Given the description of an element on the screen output the (x, y) to click on. 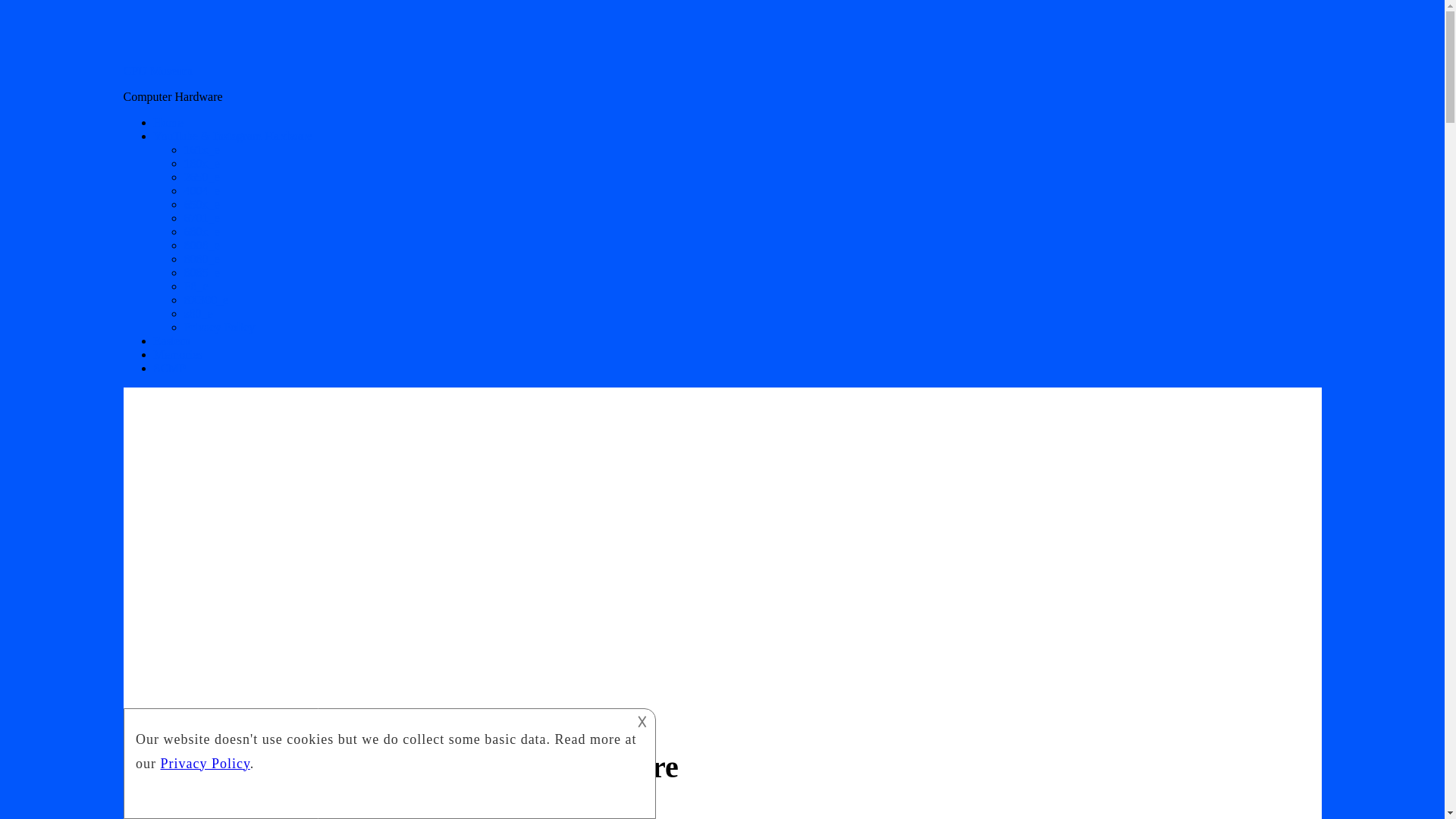
Memories (177, 354)
Home (167, 122)
SCMP (169, 367)
Computer Hardware (215, 811)
Privacy Policy (218, 327)
CPU Museum (157, 70)
Home (167, 122)
Eastern (170, 340)
